Given the description of an element on the screen output the (x, y) to click on. 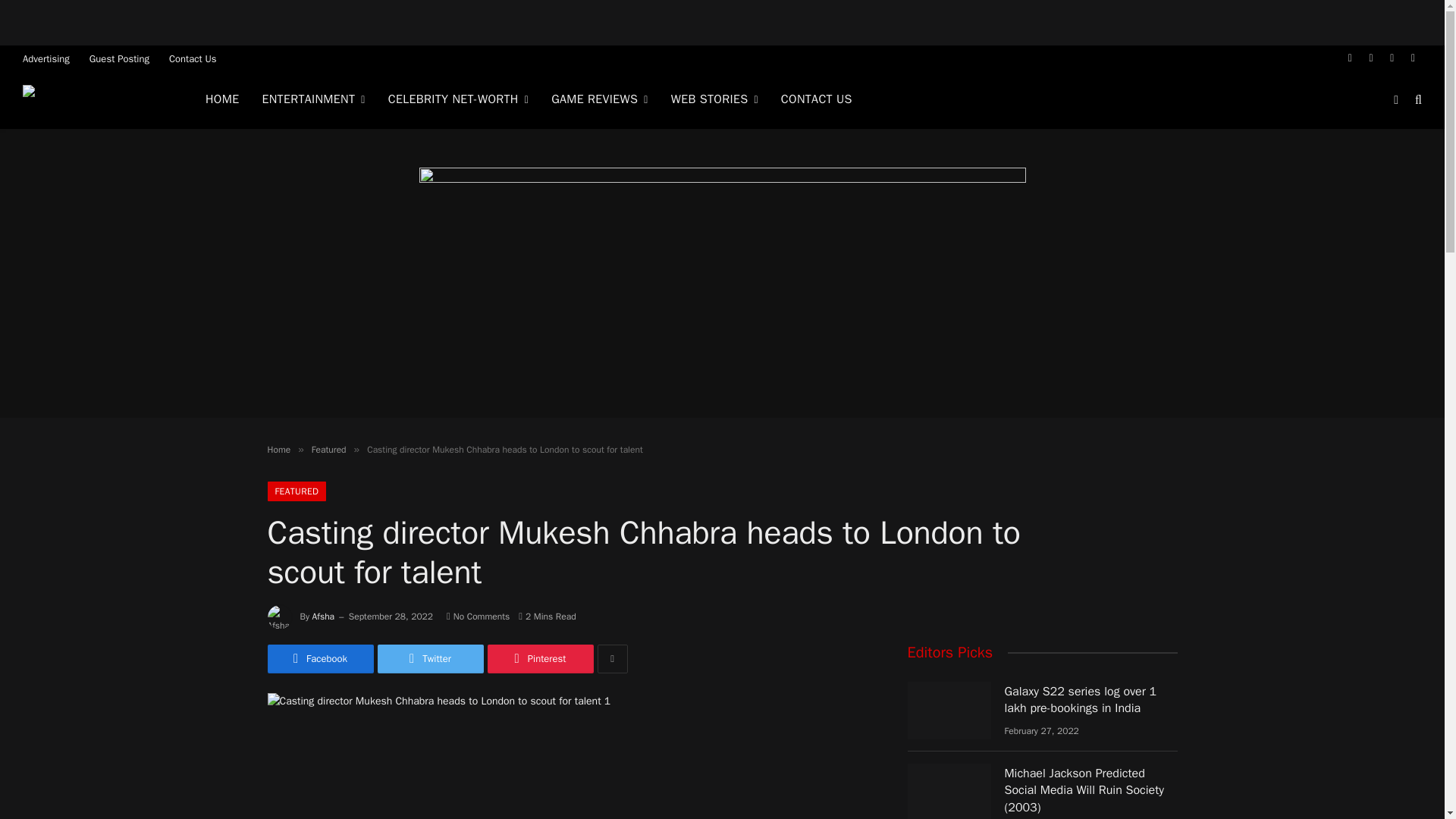
Guest Posting (119, 58)
CELEBRITY NET-WORTH (458, 99)
HOME (221, 99)
Desinema (95, 99)
Advertising (46, 58)
Contact Us (192, 58)
ENTERTAINMENT (312, 99)
